Given the description of an element on the screen output the (x, y) to click on. 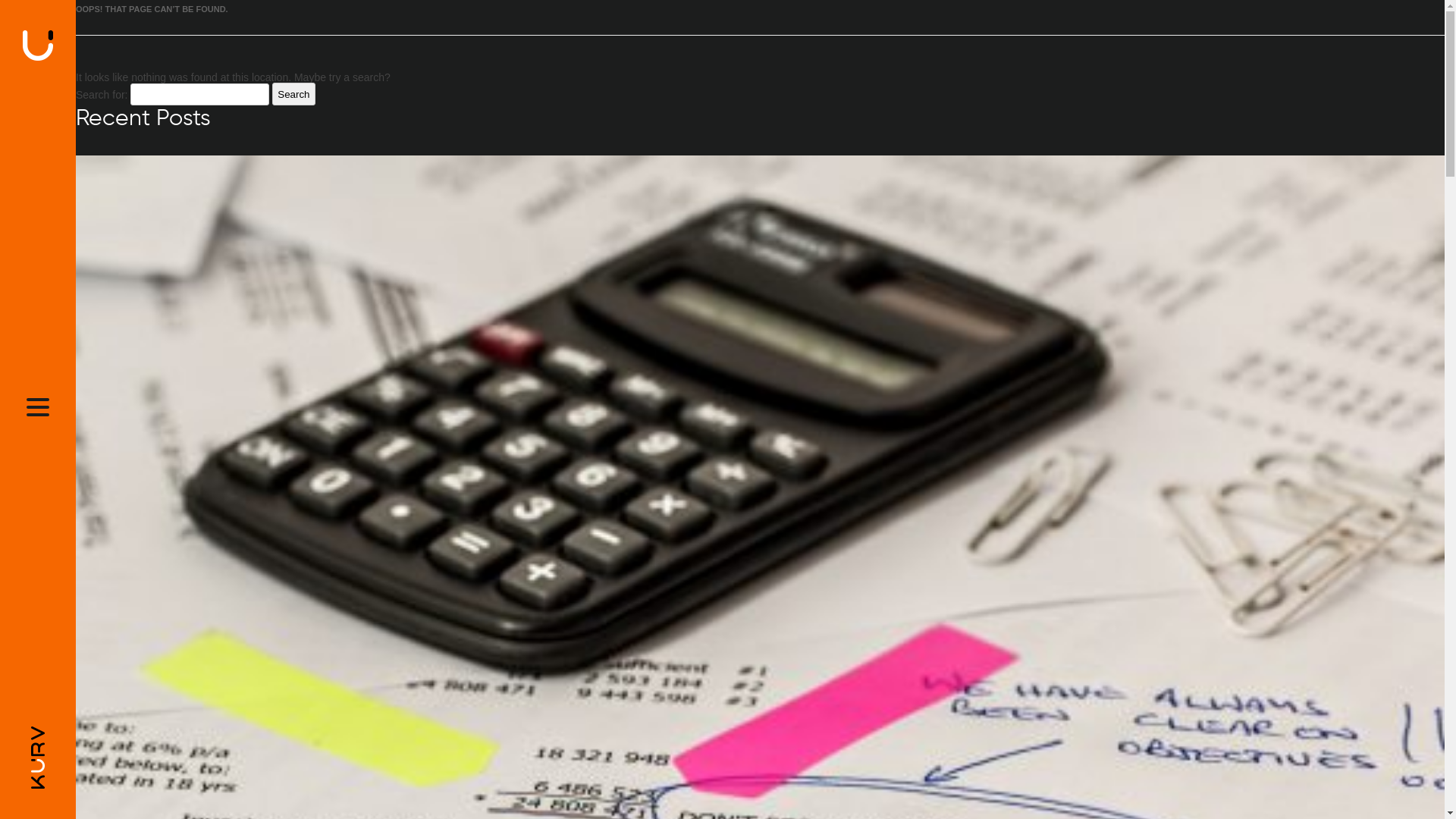
Search Element type: text (293, 93)
Kurv Property Group Element type: hover (37, 756)
Kurv Property Group Element type: hover (37, 44)
